Given the description of an element on the screen output the (x, y) to click on. 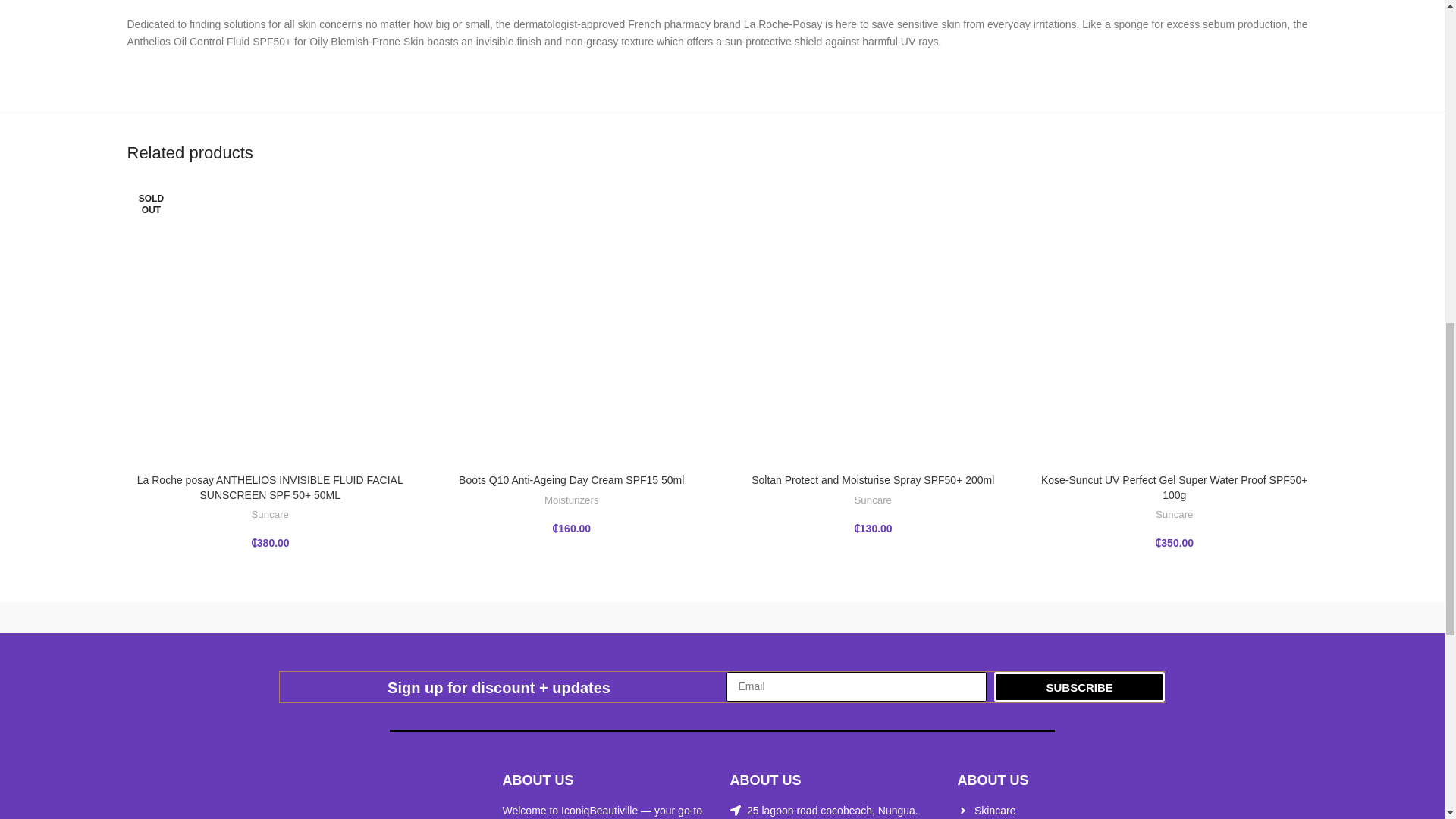
good molecules (721, 617)
Garnier (892, 617)
Black girl sunscreen (1232, 617)
Cerave (1061, 617)
Kojie san (552, 617)
Relumins (212, 617)
Olay (382, 617)
